Given the description of an element on the screen output the (x, y) to click on. 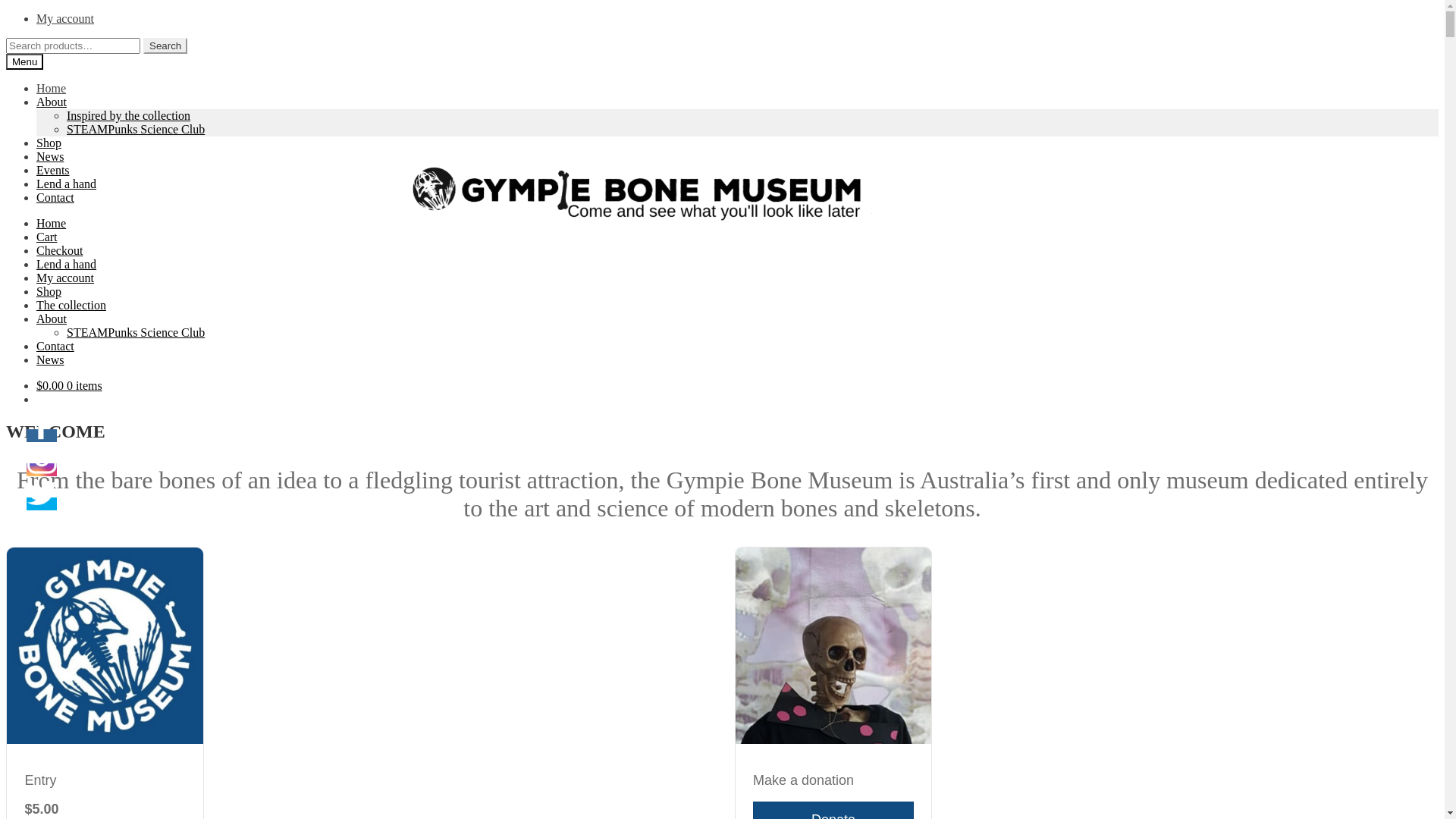
Checkout Element type: text (59, 250)
My account Element type: text (65, 277)
About Element type: text (51, 101)
Home Element type: text (50, 222)
STEAMPunks Science Club Element type: text (135, 332)
Events Element type: text (52, 169)
Skip to navigation Element type: text (5, 11)
Cart Element type: text (46, 236)
Inspired by the collection Element type: text (128, 115)
Contact Element type: text (55, 197)
News Element type: text (49, 156)
About Element type: text (51, 318)
Search Element type: text (165, 45)
My account Element type: text (65, 18)
The collection Element type: text (71, 304)
STEAMPunks Science Club Element type: text (135, 128)
Lend a hand Element type: text (66, 183)
Menu Element type: text (24, 61)
Contact Element type: text (55, 345)
News Element type: text (49, 359)
Twitter Element type: hover (41, 492)
Lend a hand Element type: text (66, 263)
Instagram Element type: hover (41, 458)
Shop Element type: text (48, 142)
Home Element type: text (50, 87)
Shop Element type: text (48, 291)
Facebook Element type: hover (41, 424)
$0.00 0 items Element type: text (69, 385)
